Given the description of an element on the screen output the (x, y) to click on. 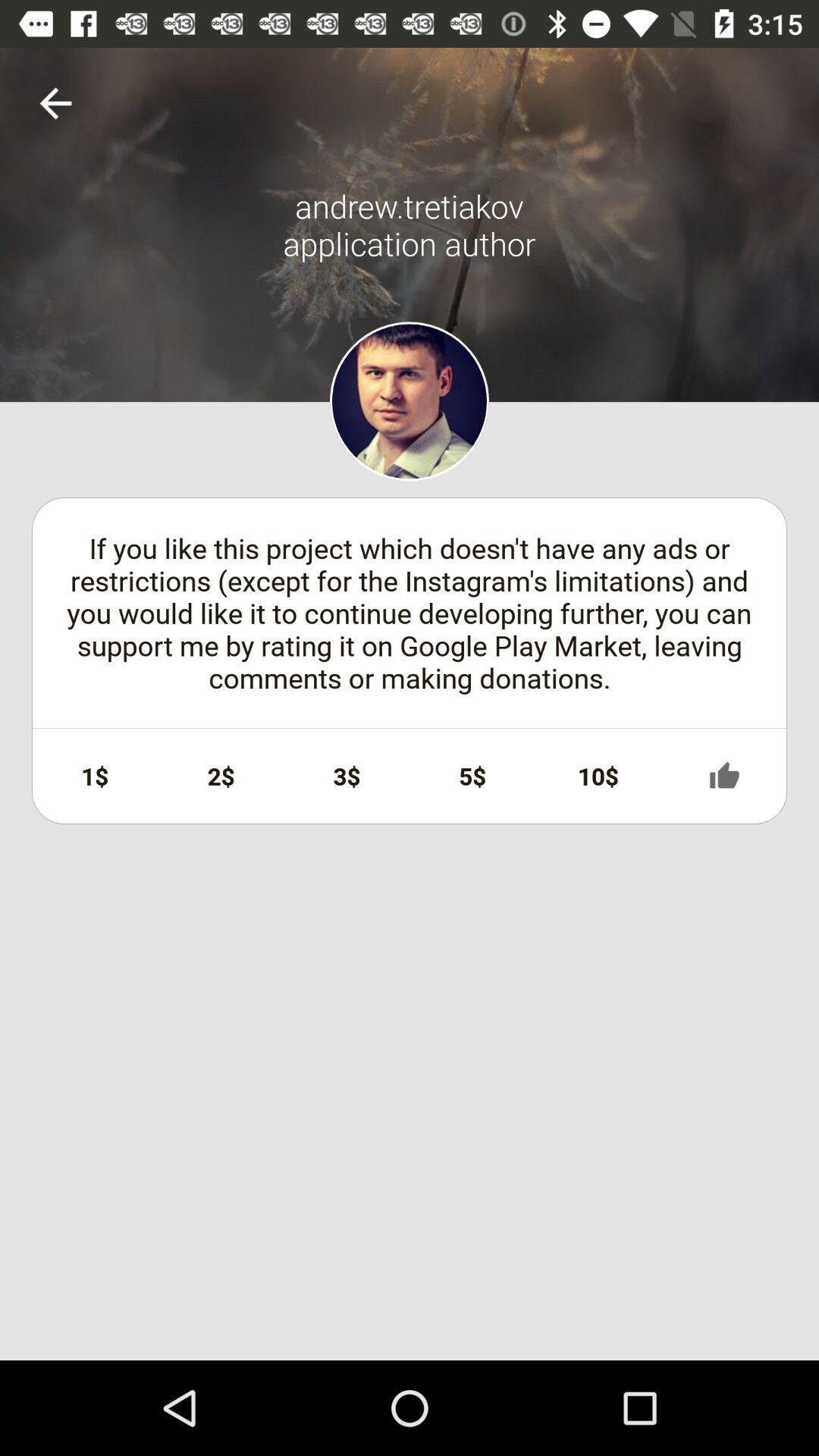
choose icon next to 5$ icon (347, 776)
